Given the description of an element on the screen output the (x, y) to click on. 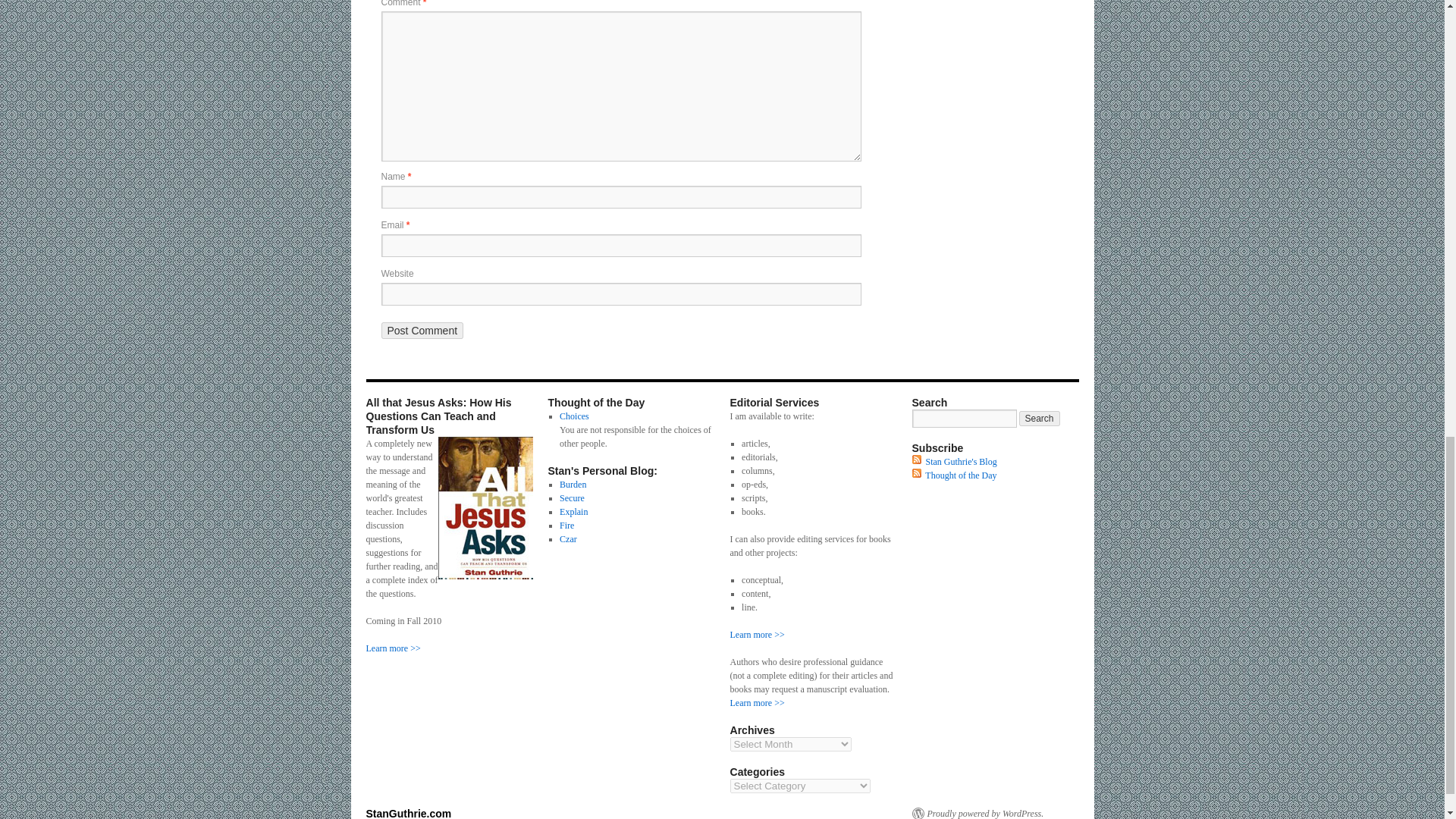
Post Comment (421, 330)
Post Comment (421, 330)
Permanent link to Choices (574, 416)
Search (1039, 418)
